Given the description of an element on the screen output the (x, y) to click on. 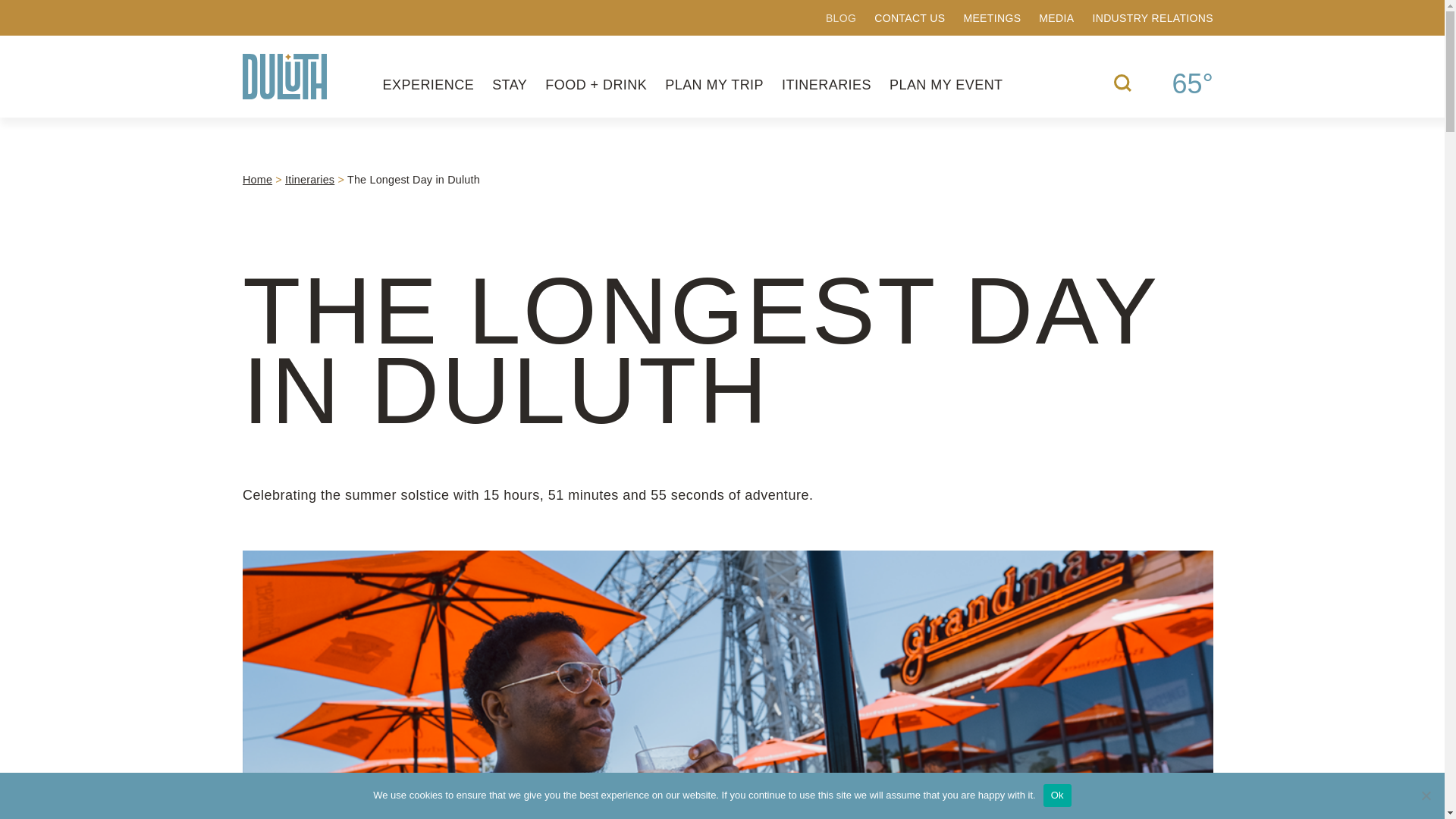
MEDIA (1056, 18)
STAY (509, 85)
INDUSTRY RELATIONS (1152, 18)
BLOG (840, 18)
PLAN MY TRIP (713, 85)
MEETINGS (991, 18)
CONTACT US (909, 18)
No (1425, 795)
EXPERIENCE (428, 85)
